Given the description of an element on the screen output the (x, y) to click on. 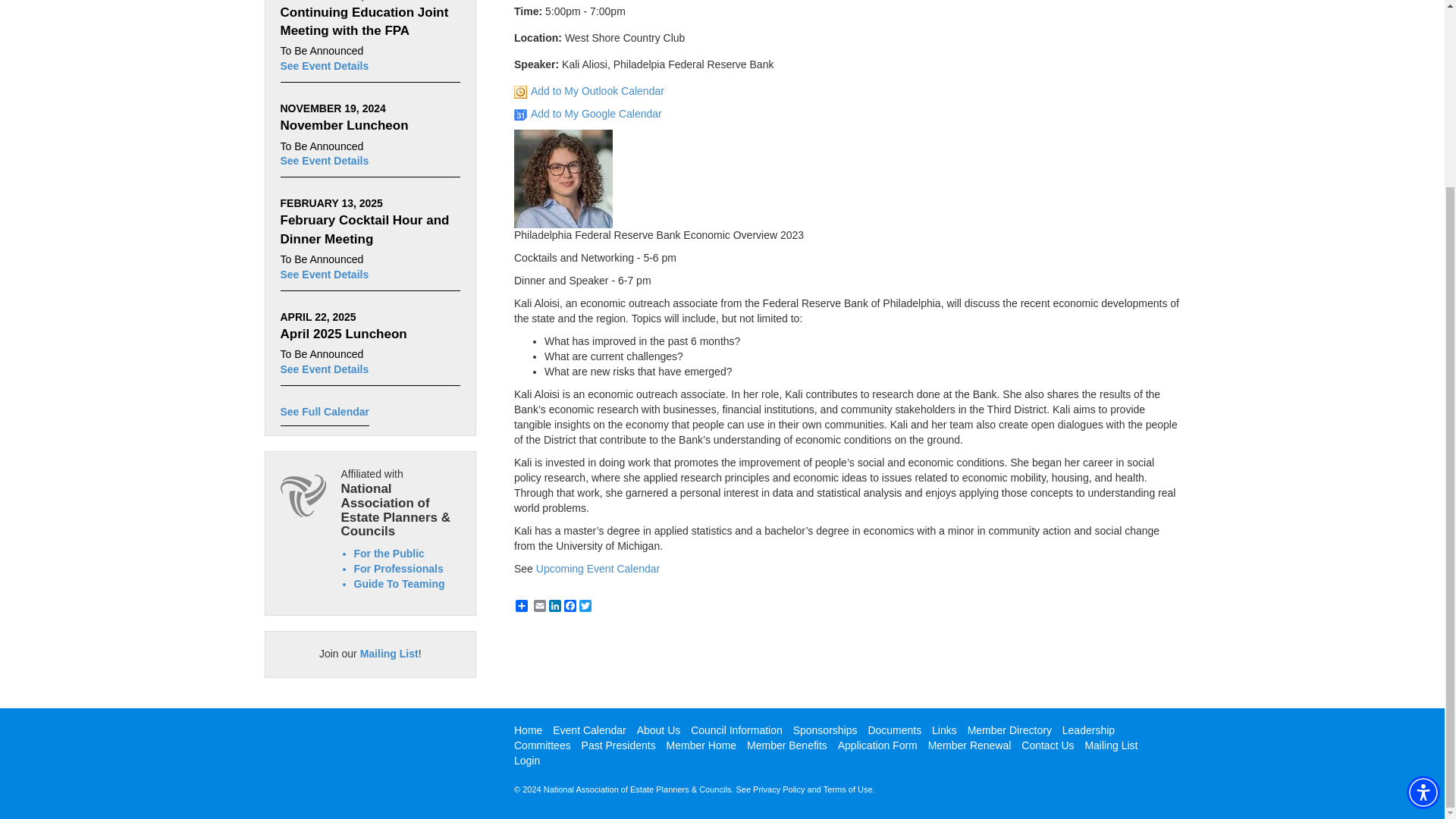
Accessibility Menu (1422, 560)
